Given the description of an element on the screen output the (x, y) to click on. 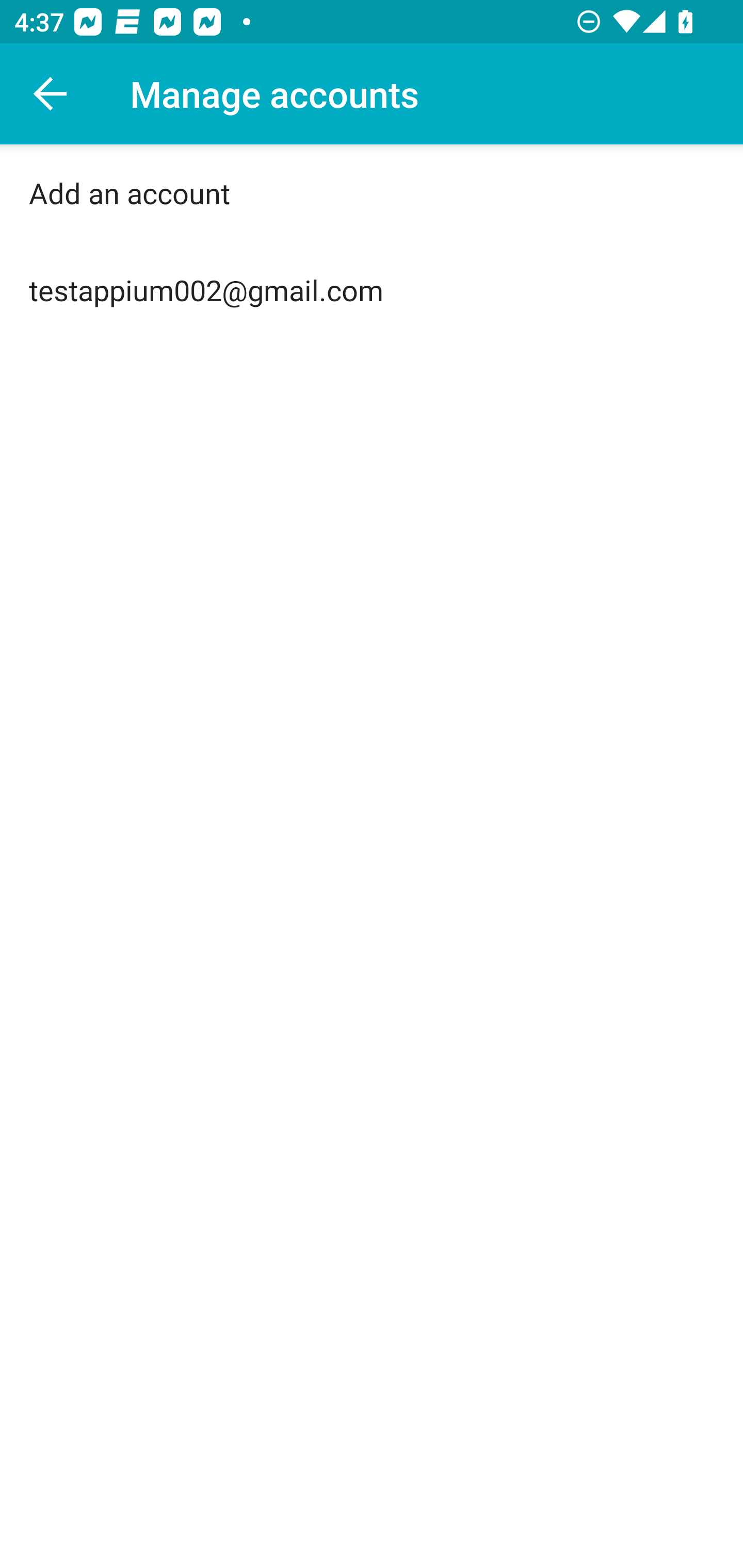
Navigate up (50, 93)
Add an account (371, 192)
testappium002@gmail.com (371, 289)
